Given the description of an element on the screen output the (x, y) to click on. 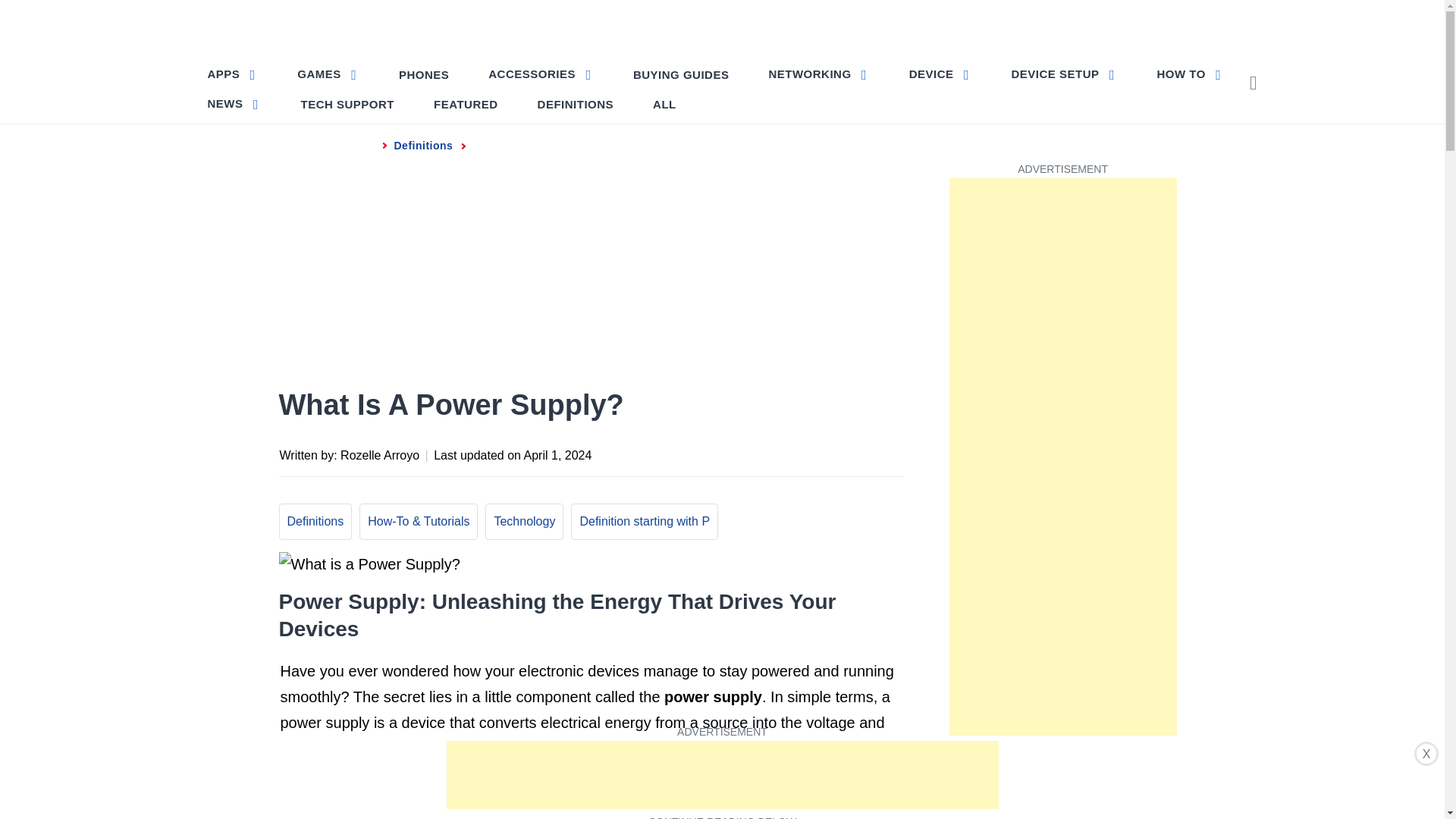
GAMES (327, 73)
Share on twitter (769, 453)
APPS (233, 73)
BUYING GUIDES (681, 74)
NETWORKING (818, 73)
Share on Pinterest (800, 453)
Mail the Link (890, 453)
ACCESSORIES (540, 73)
PHONES (424, 74)
Share on facebook (740, 453)
DEVICE (940, 73)
Share on Whatsapp (829, 453)
Copy to Clipboard (860, 453)
